Given the description of an element on the screen output the (x, y) to click on. 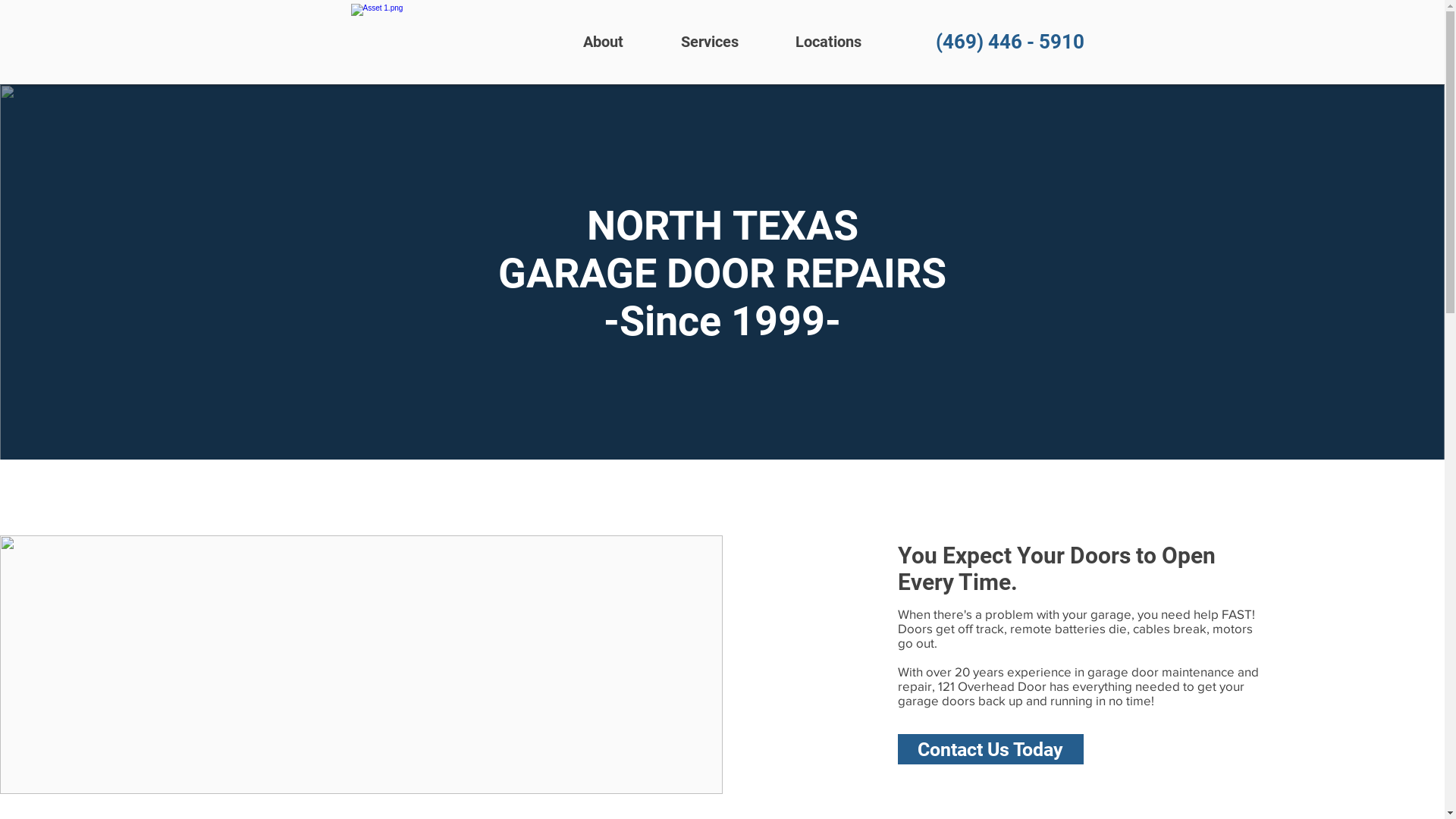
About Element type: text (602, 41)
Locations Element type: text (828, 41)
Contact Us Today Element type: text (990, 749)
Services Element type: text (709, 41)
(469) 446 - 5910 Element type: text (1009, 41)
